Given the description of an element on the screen output the (x, y) to click on. 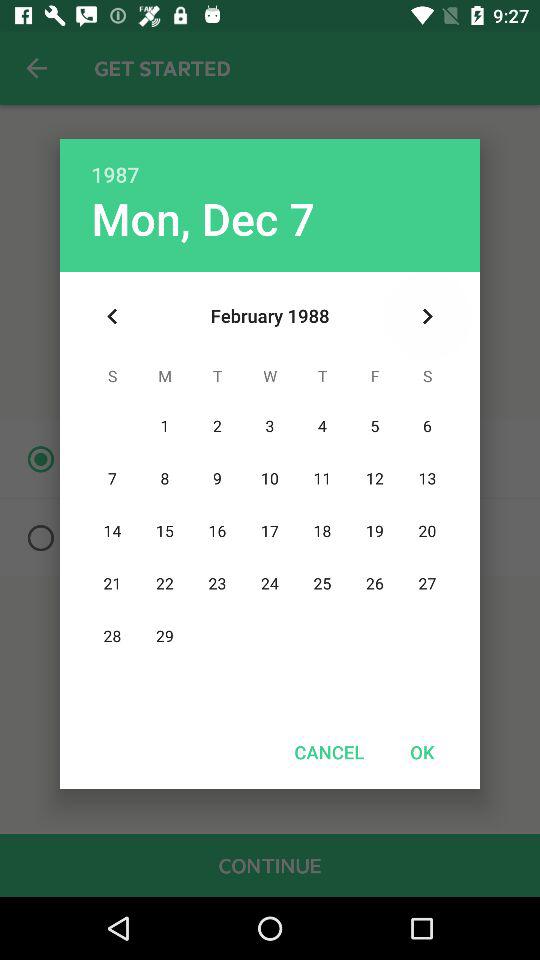
flip until cancel item (329, 751)
